Given the description of an element on the screen output the (x, y) to click on. 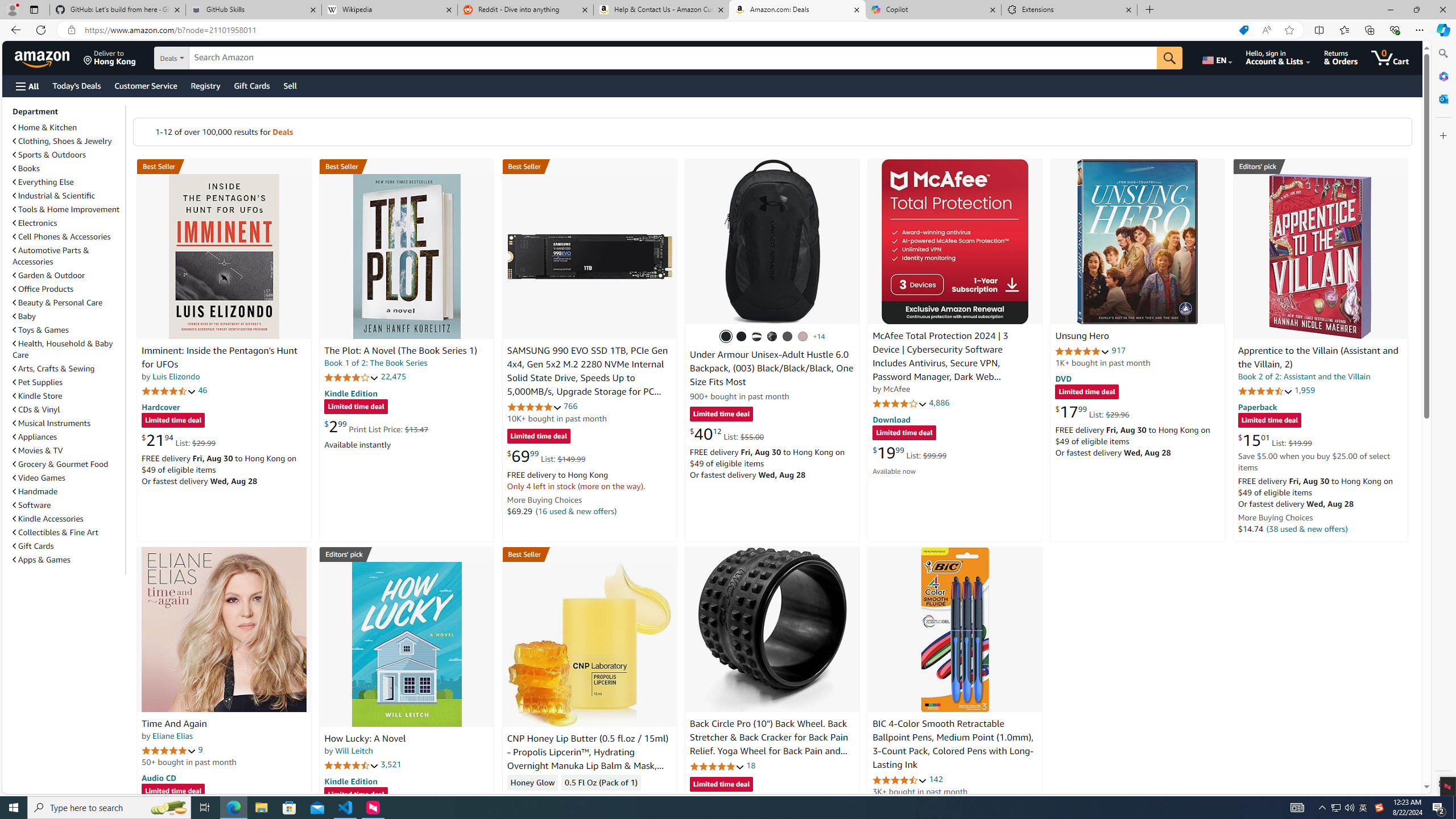
Movies & TV (37, 450)
How Lucky: A Novel (405, 644)
$40.12 List: $55.00 (726, 433)
Close Outlook pane (1442, 98)
0 items in cart (1389, 57)
Hardcover (160, 406)
Apps & Games (41, 559)
Book 1 of 2: The Book Series (376, 362)
(002) Black / Black / White (756, 336)
Best Seller in Heist Thrillers (406, 165)
Sports & Outdoors (49, 154)
Editors' pick Best Mystery, Thriller & Suspense (406, 553)
$21.94 List: $29.99 (178, 439)
Gift Cards (67, 546)
